Given the description of an element on the screen output the (x, y) to click on. 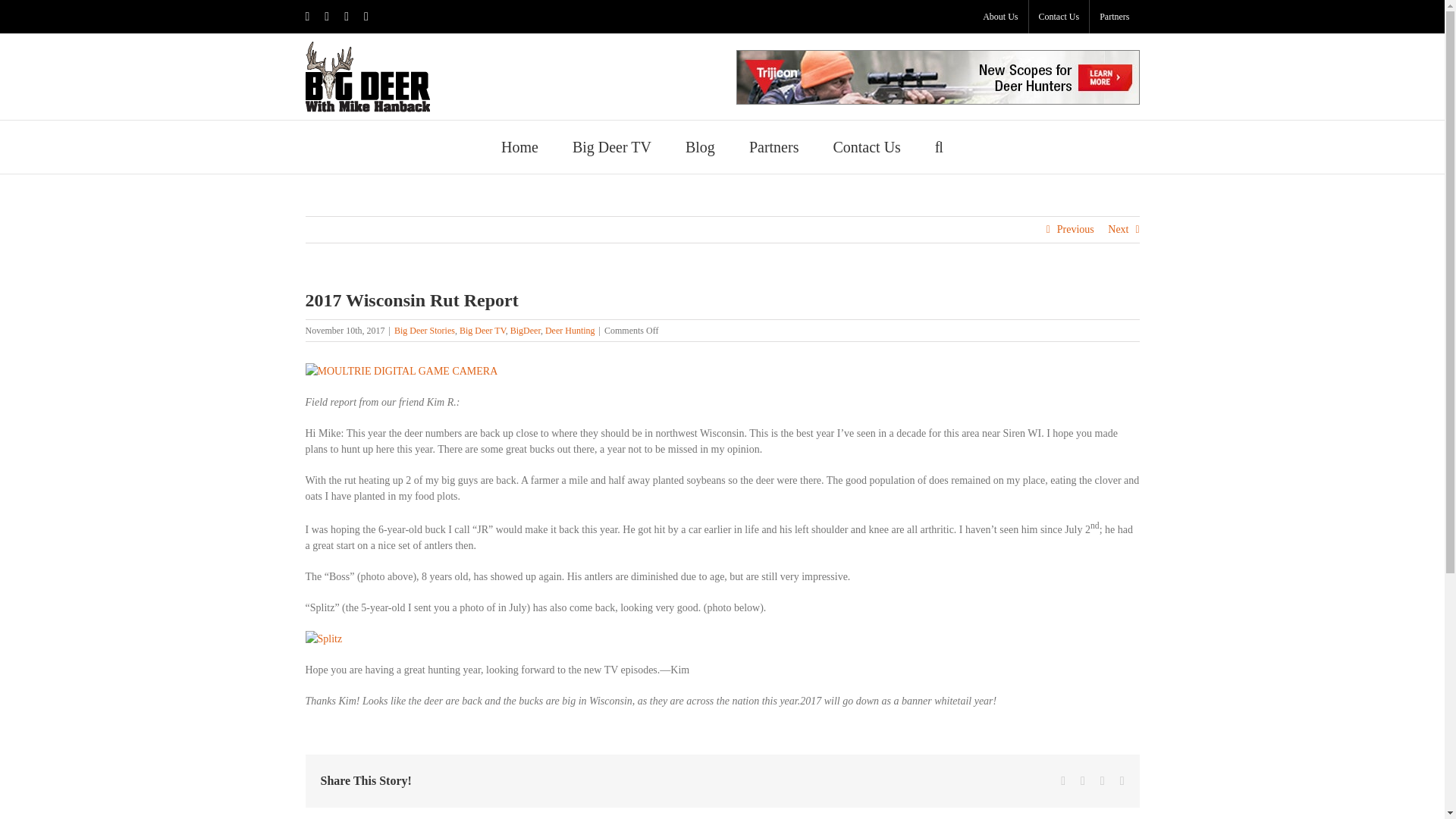
Search (938, 146)
Instagram (366, 16)
Facebook (306, 16)
Contact Us (865, 146)
Facebook (306, 16)
Big Deer TV (611, 146)
Partners (1113, 16)
X (326, 16)
YouTube (346, 16)
X (1082, 780)
LinkedIn (1102, 780)
Home (519, 146)
Partners (774, 146)
YouTube (346, 16)
X (326, 16)
